Given the description of an element on the screen output the (x, y) to click on. 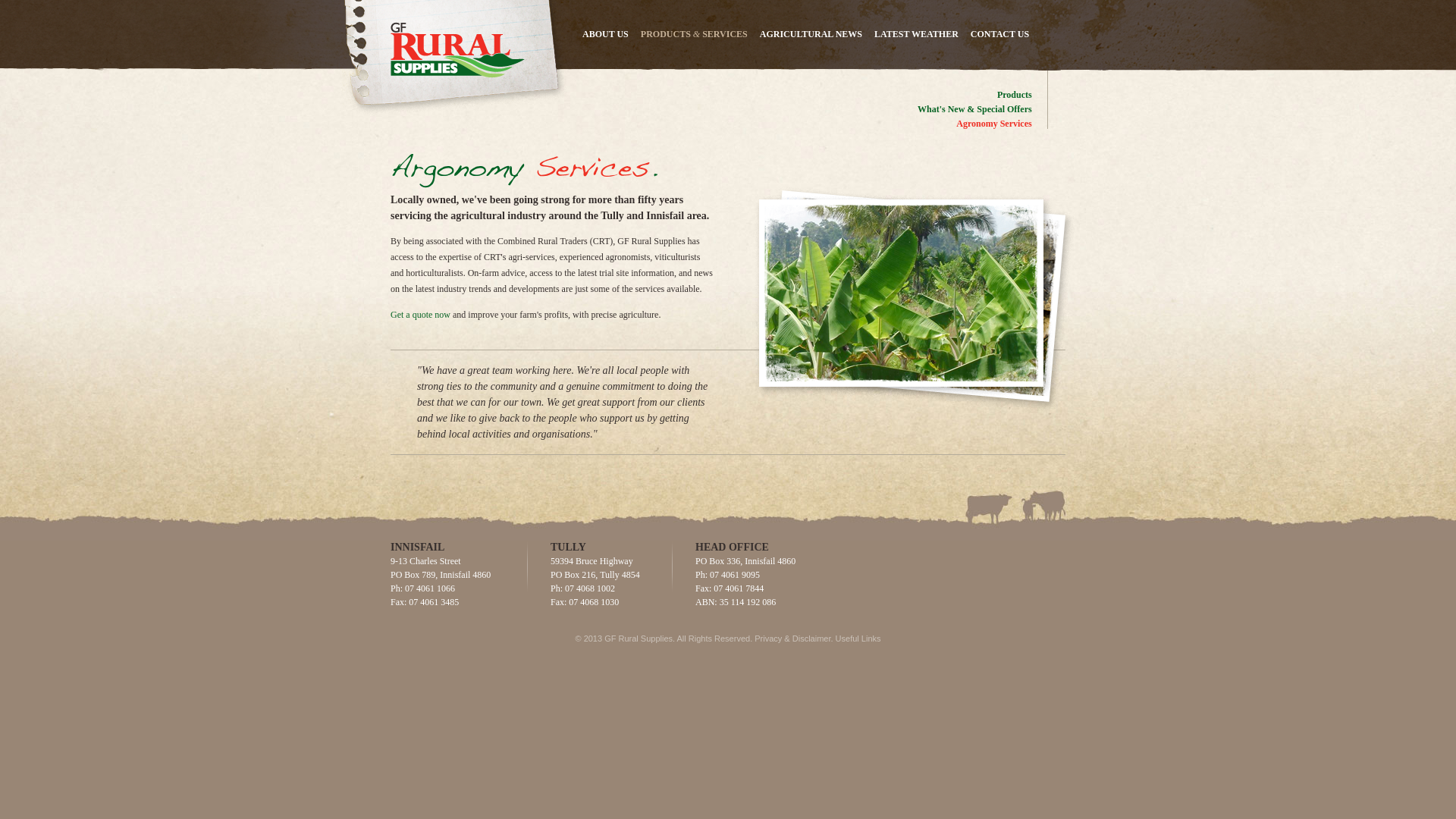
AGRICULTURAL NEWS Element type: text (810, 33)
What's New & Special Offers Element type: text (974, 108)
Products Element type: text (1014, 94)
Privacy & Disclaimer. Element type: text (793, 638)
LATEST WEATHER Element type: text (916, 33)
ABOUT US Element type: text (605, 33)
Get a quote now Element type: text (420, 314)
CONTACT US Element type: text (999, 33)
Useful Links Element type: text (858, 638)
PRODUCTS & SERVICES Element type: text (693, 33)
Agronomy Services Element type: text (993, 123)
